Given the description of an element on the screen output the (x, y) to click on. 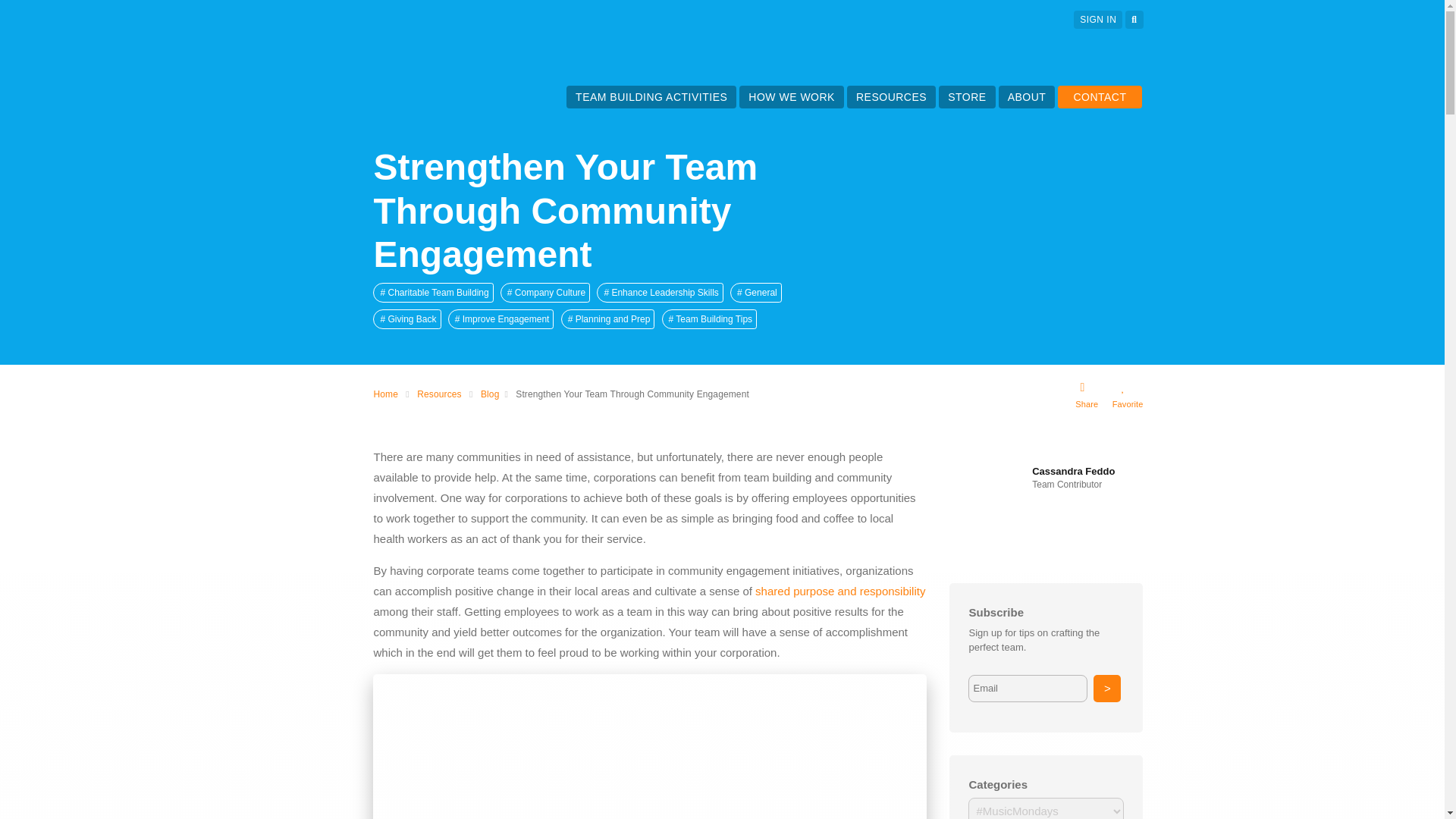
CONTACT (1099, 96)
HOW WE WORK (791, 96)
RESOURCES (891, 96)
SIGN IN (1098, 19)
STORE (966, 96)
TEAM BUILDING ACTIVITIES (650, 96)
ABOUT (1026, 96)
